Given the description of an element on the screen output the (x, y) to click on. 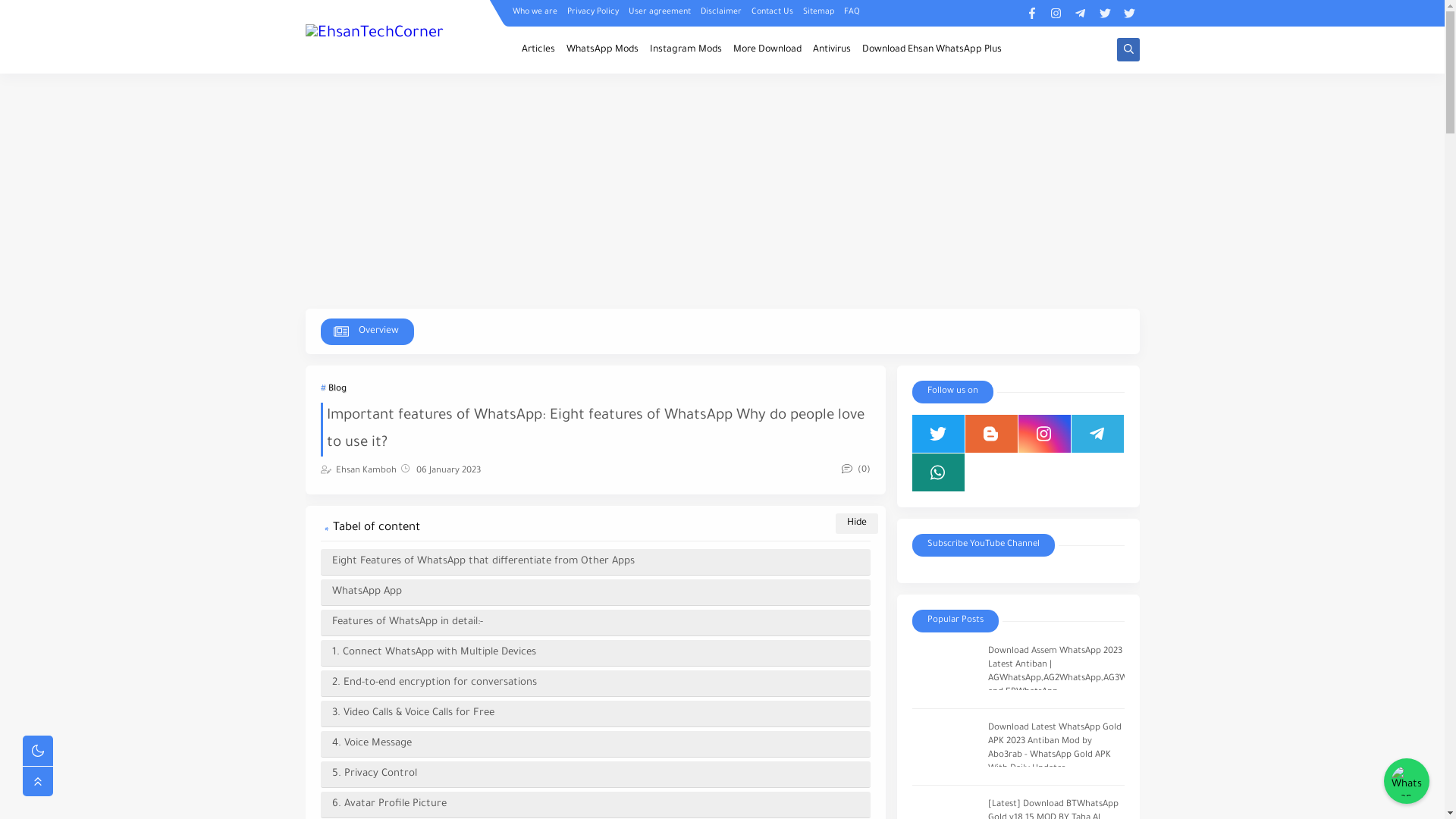
4. Voice Message Element type: text (594, 744)
Who we are Element type: text (534, 11)
blogger Element type: hover (990, 433)
6. Avatar Profile Picture Element type: text (594, 804)
Privacy Policy Element type: text (592, 11)
Advertisement Element type: hover (721, 190)
telegram Element type: hover (1080, 13)
WhatsApp App Element type: text (594, 592)
Articles Element type: text (538, 50)
1. Connect WhatsApp with Multiple Devices Element type: text (594, 653)
Download Ehsan WhatsApp Plus Element type: text (931, 50)
instagram Element type: hover (1043, 433)
WhatsApp Mods Element type: text (601, 50)
06 January 2023 Element type: text (447, 471)
More Download Element type: text (766, 50)
twitter Element type: hover (1105, 13)
3. Video Calls & Voice Calls for Free Element type: text (594, 713)
User agreement Element type: text (658, 11)
2. End-to-end encryption for conversations Element type: text (594, 683)
FAQ Element type: text (851, 11)
Blog Element type: text (332, 389)
Sitemap Element type: text (817, 11)
whatsapp Element type: hover (937, 472)
twitter Element type: hover (937, 433)
(0) Element type: text (855, 470)
Features of WhatsApp in detail:- Element type: text (594, 622)
twitter Element type: hover (1129, 13)
5. Privacy Control Element type: text (594, 774)
telegram Element type: hover (1096, 433)
facebook Element type: hover (1032, 13)
Contact Us Element type: text (771, 11)
Instagram Mods Element type: text (685, 50)
instagram Element type: hover (1056, 13)
Disclaimer Element type: text (720, 11)
Antivirus Element type: text (831, 50)
